Given the description of an element on the screen output the (x, y) to click on. 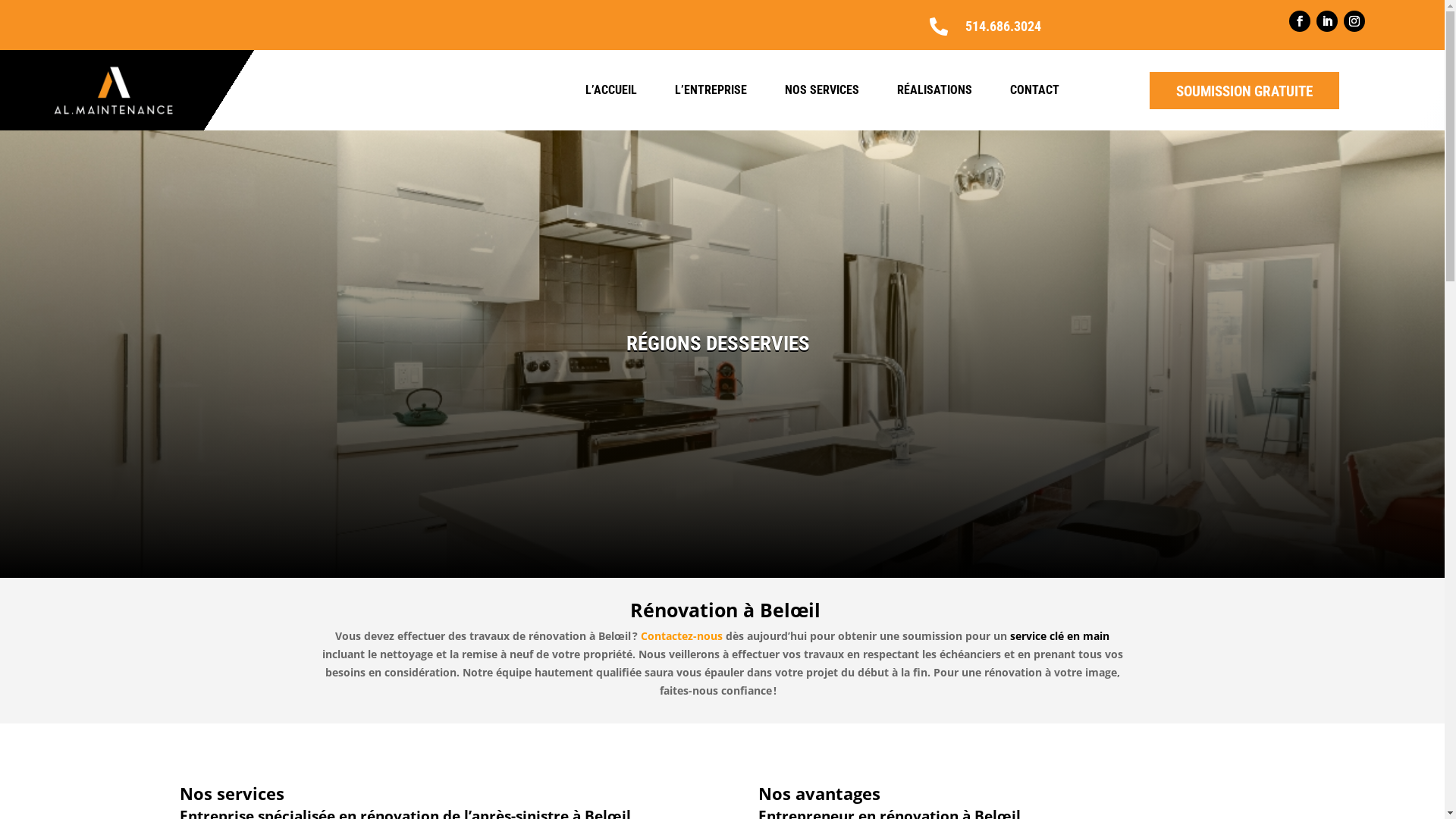
Suivez sur Facebook Element type: hover (1299, 20)
NOS SERVICES Element type: text (821, 90)
514.686.3024 Element type: text (1003, 26)
CONTACT Element type: text (1034, 90)
Suivez sur Instagram Element type: hover (1354, 20)
SOUMISSION GRATUITE Element type: text (1244, 90)
Contactez-nous Element type: text (682, 635)
Suivez sur LinkedIn Element type: hover (1326, 20)
